Given the description of an element on the screen output the (x, y) to click on. 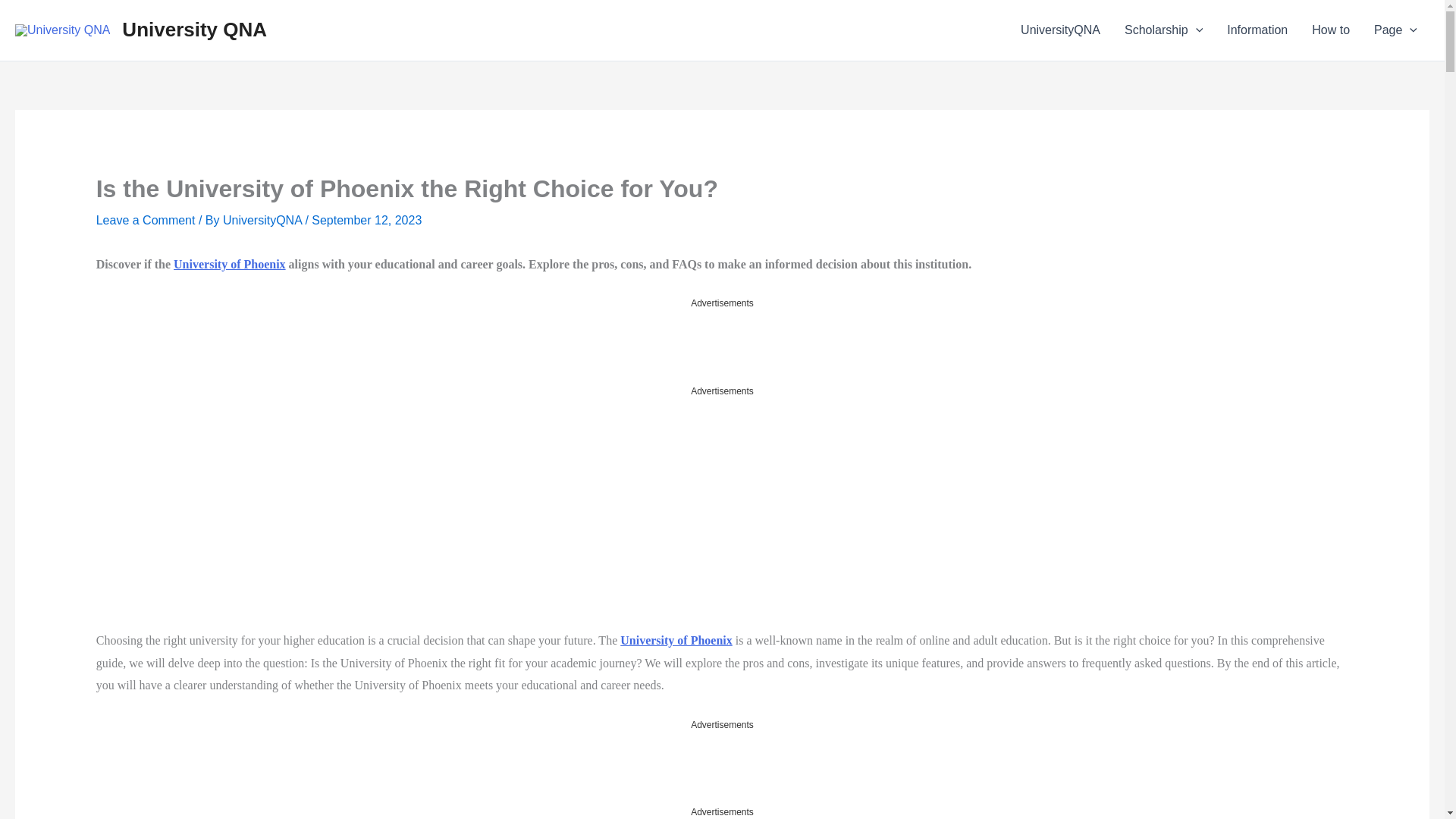
Information (1257, 30)
UniversityQNA (1060, 30)
UniversityQNA (263, 219)
Leave a Comment (145, 219)
How to (1330, 30)
Advertisement (721, 346)
University of Phoenix (676, 640)
University QNA (194, 29)
Page (1395, 30)
Advertisement (721, 767)
View all posts by UniversityQNA (263, 219)
University of Phoenix (229, 264)
Scholarship (1163, 30)
Advertisement (235, 513)
